Given the description of an element on the screen output the (x, y) to click on. 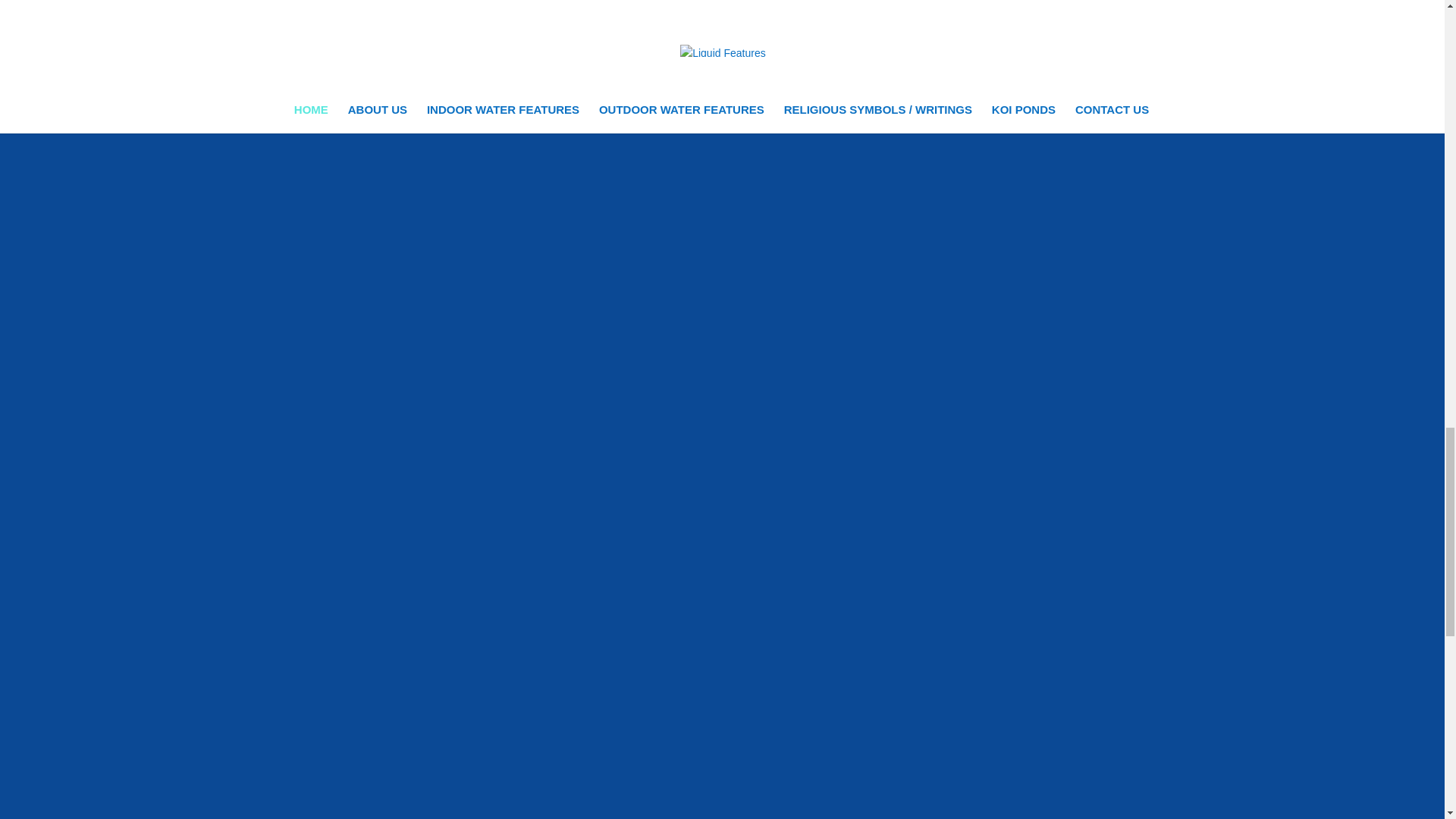
Water Walls and Koi Pond with Foam Nozzles (926, 184)
Stepped Glass Bowls (926, 650)
YouTube video player (505, 201)
String water curtain (494, 452)
YouTube video player (937, 27)
YouTube video player (505, 27)
Nick Outdoor spouts (926, 418)
YouTube video player (505, 701)
